Given the description of an element on the screen output the (x, y) to click on. 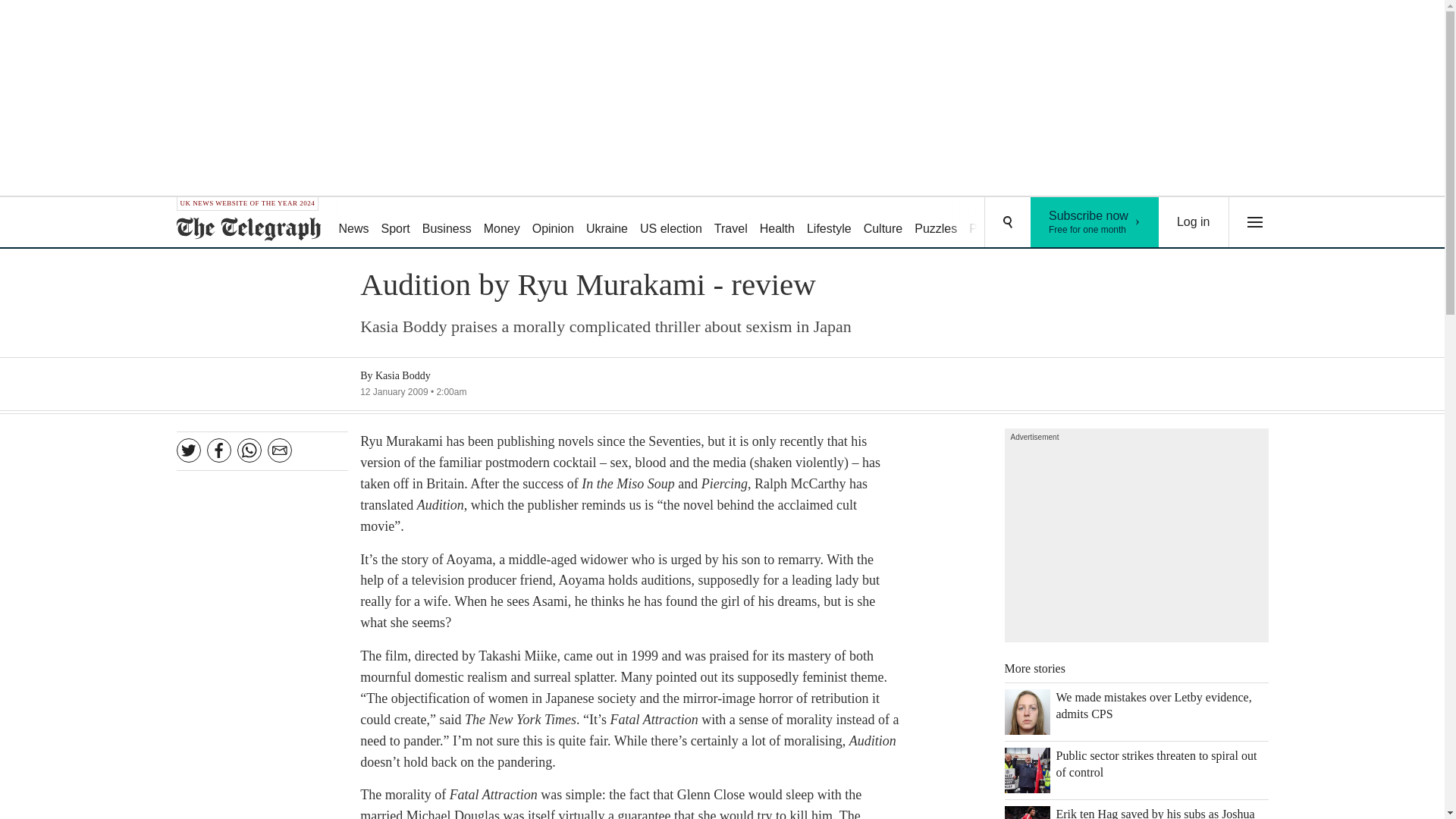
Money (501, 223)
Travel (730, 223)
US election (670, 223)
Opinion (552, 223)
Podcasts (993, 223)
Health (777, 223)
Business (446, 223)
Ukraine (606, 223)
Culture (1094, 222)
